Given the description of an element on the screen output the (x, y) to click on. 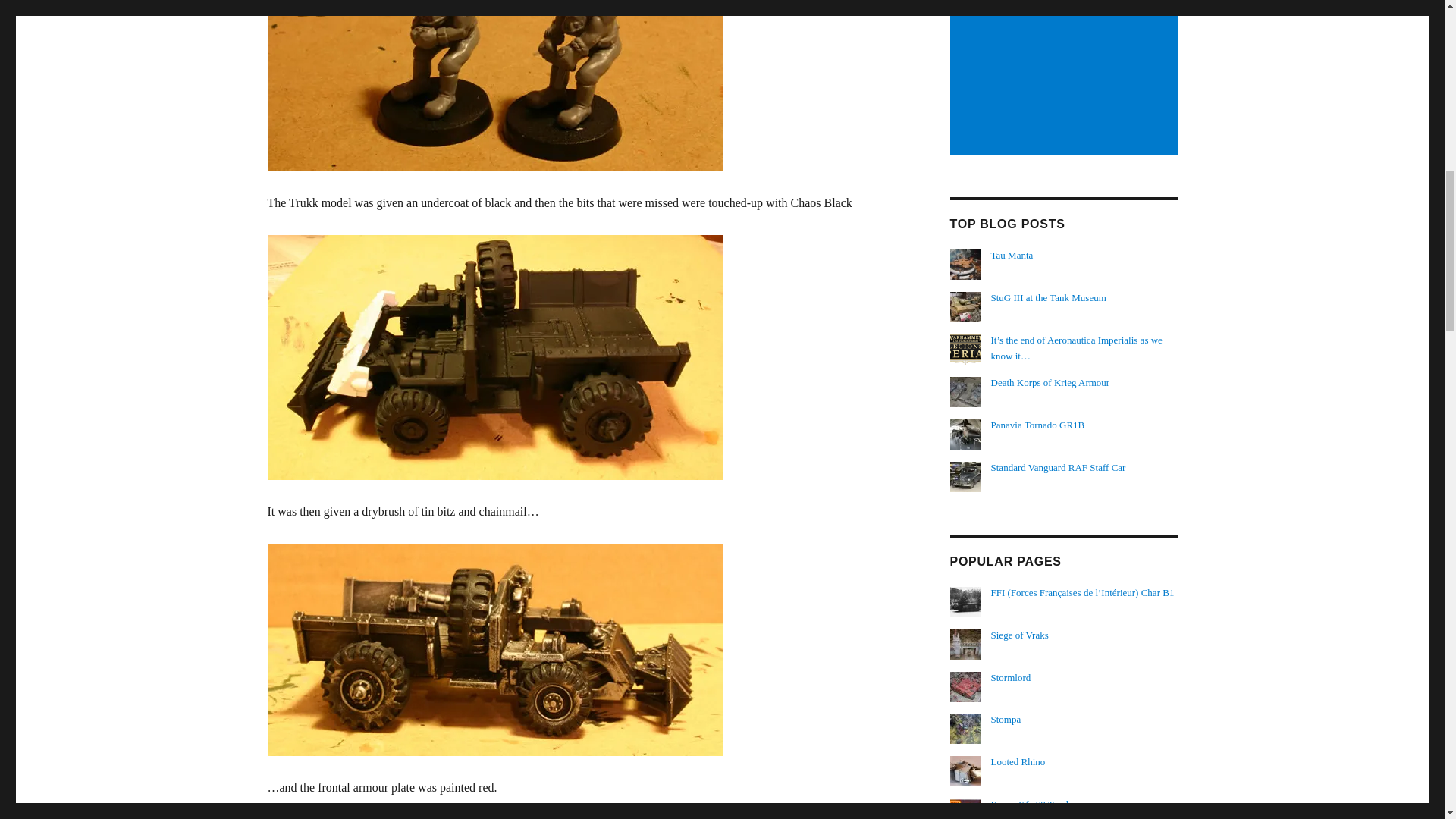
Tau Manta (1012, 255)
Death Korps of Krieg Armour (1050, 382)
Panavia Tornado GR1B (1037, 424)
Standard Vanguard RAF Staff Car (1058, 467)
StuG III at the Tank Museum (1048, 297)
Panavia Tornado GR1B (1037, 424)
StuG III at the Tank Museum (1048, 297)
Advertisement (1065, 77)
Death Korps of Krieg Armour (1050, 382)
Tau Manta (1012, 255)
